Given the description of an element on the screen output the (x, y) to click on. 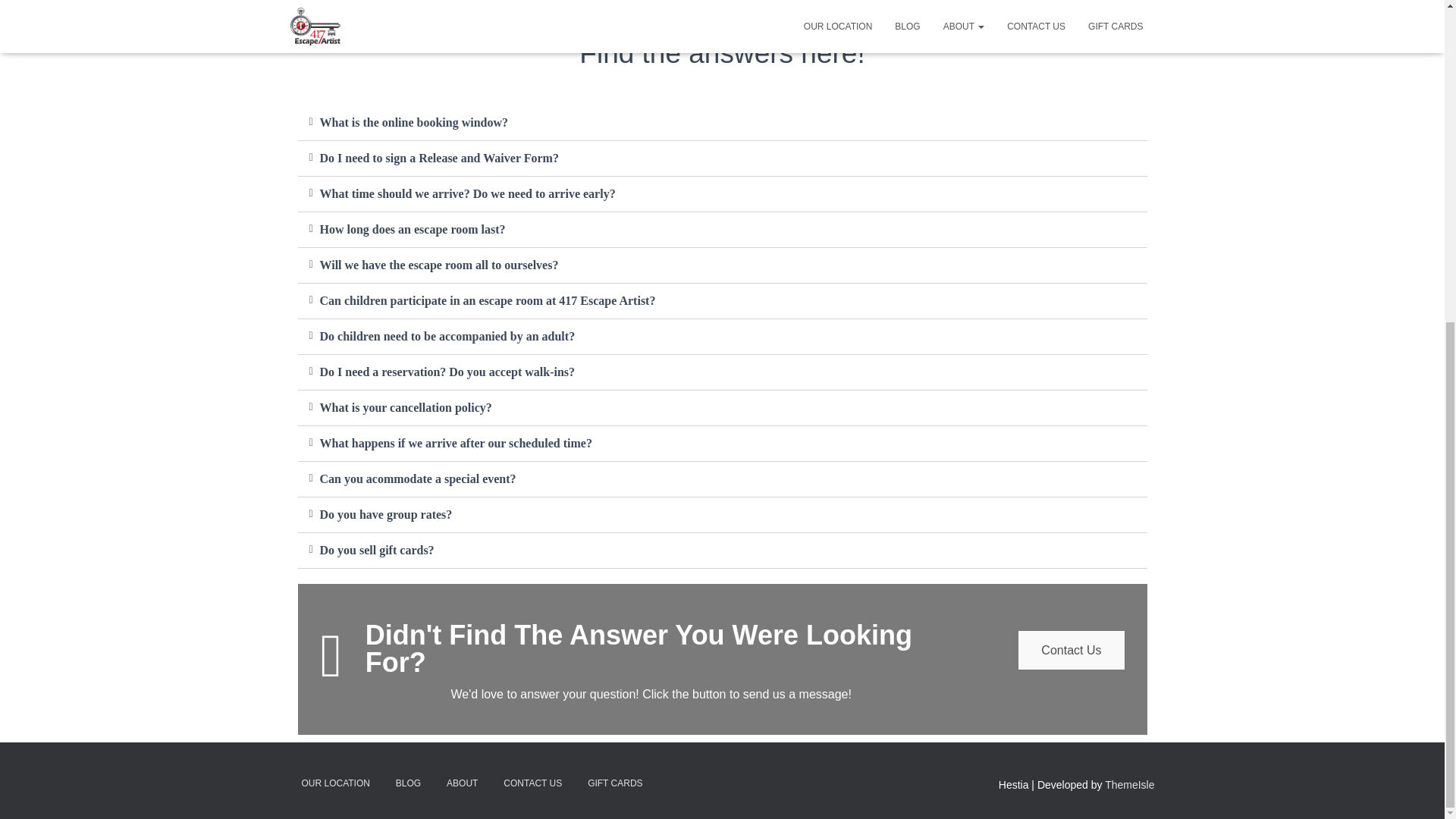
What time should we arrive? Do we need to arrive early? (467, 193)
ThemeIsle (1129, 784)
What is the online booking window? (414, 122)
Do you sell gift cards? (376, 549)
ABOUT (462, 783)
GIFT CARDS (614, 783)
Do I need a reservation? Do you accept walk-ins? (447, 371)
Do children need to be accompanied by an adult? (447, 336)
Do I need to sign a Release and Waiver Form? (439, 157)
What happens if we arrive after our scheduled time? (456, 442)
What is your cancellation policy? (406, 407)
Will we have the escape room all to ourselves? (439, 264)
How long does an escape room last? (412, 228)
Contact Us (1070, 649)
